Given the description of an element on the screen output the (x, y) to click on. 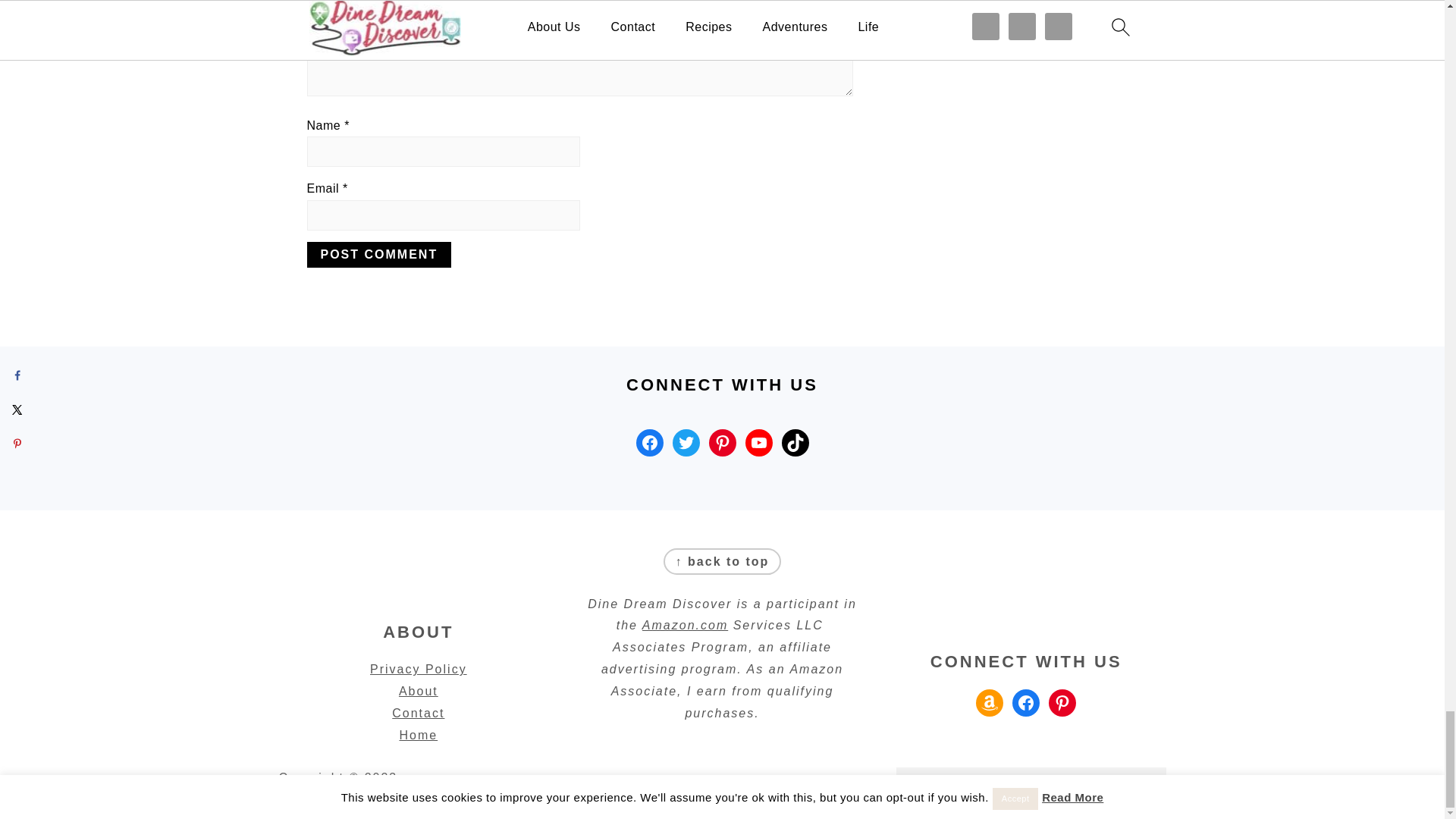
Post Comment (378, 254)
